Given the description of an element on the screen output the (x, y) to click on. 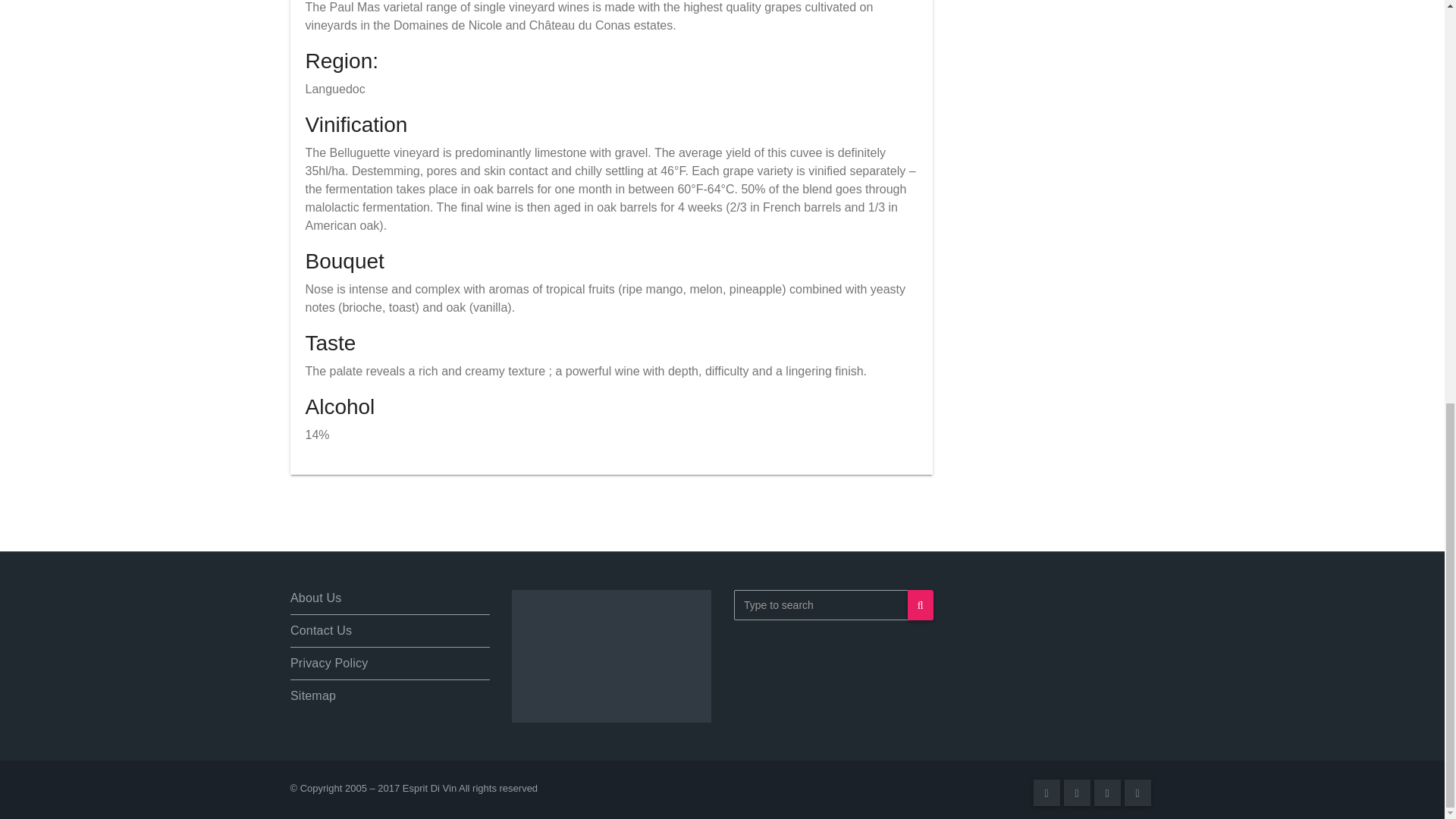
About Us (294, 590)
Esprit Di Vin (430, 787)
Contact Us (308, 621)
Privacy Policy (320, 653)
Sitemap (308, 689)
